Given the description of an element on the screen output the (x, y) to click on. 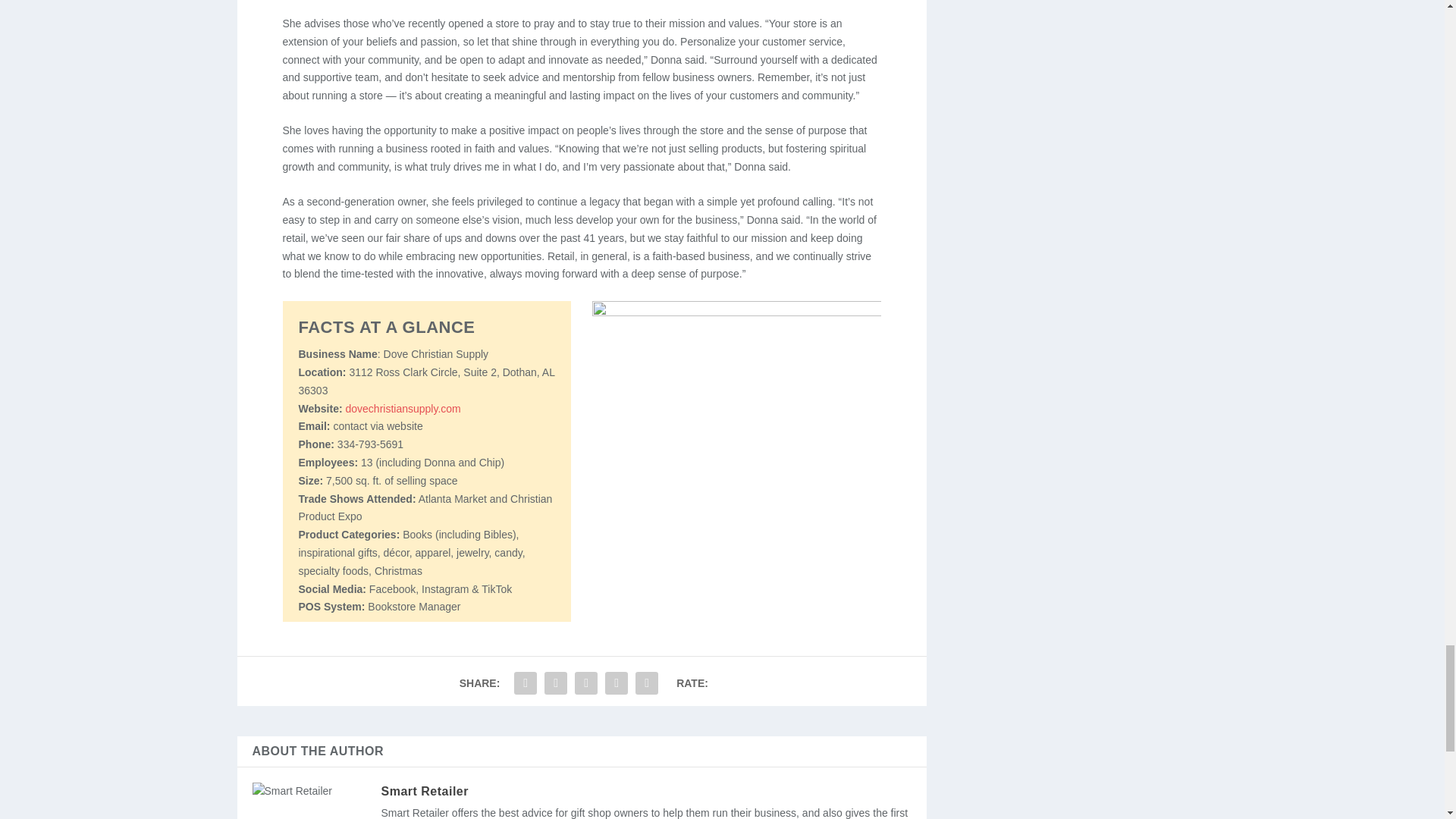
Smart Retailer (424, 790)
Share "Dove Christian Supply" via Facebook (525, 683)
Share "Dove Christian Supply" via Print (646, 683)
dovechristiansupply.com (402, 408)
Share "Dove Christian Supply" via Twitter (555, 683)
Share "Dove Christian Supply" via Pinterest (585, 683)
View all posts by Smart Retailer (424, 790)
Share "Dove Christian Supply" via Email (616, 683)
